Given the description of an element on the screen output the (x, y) to click on. 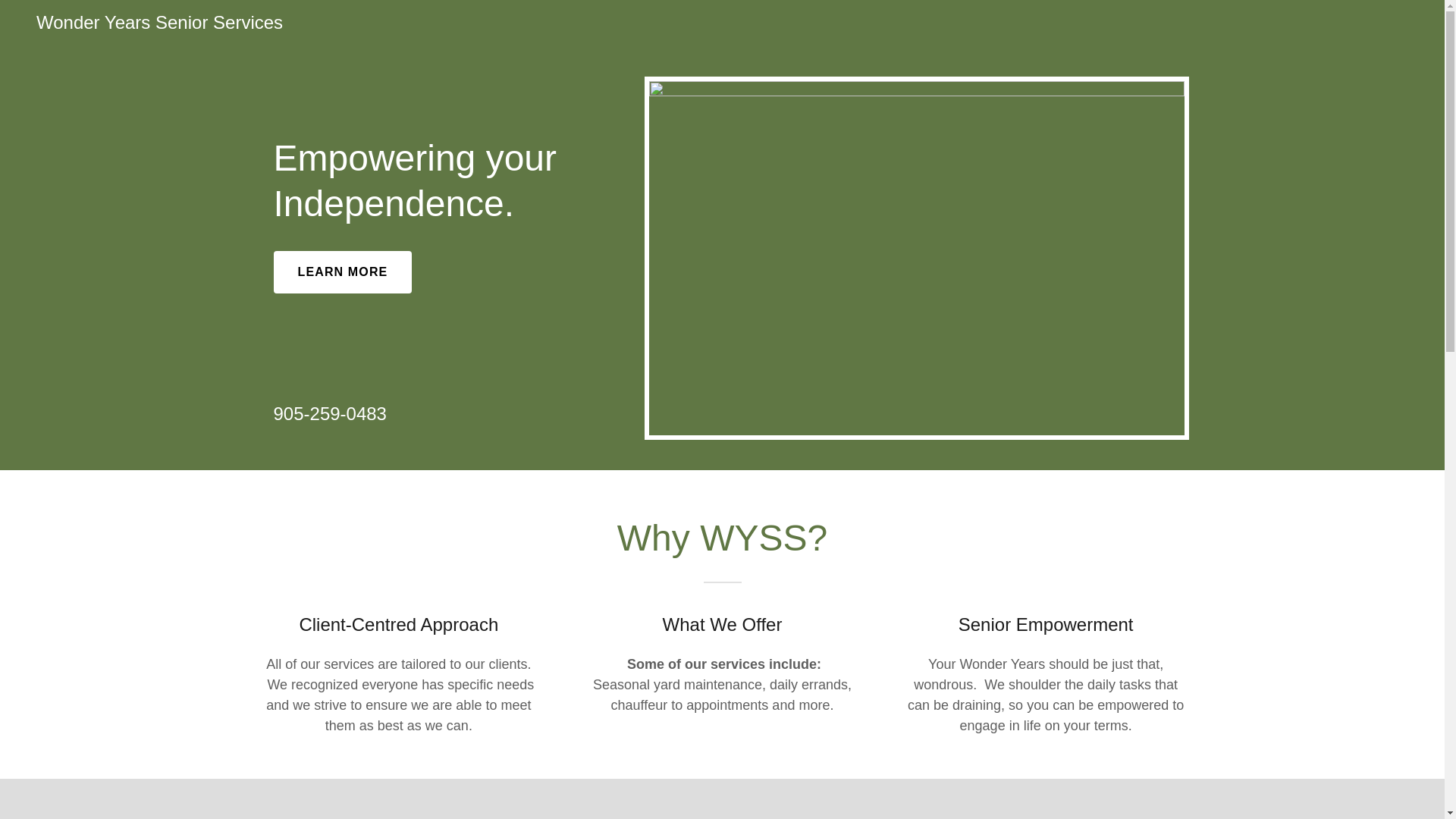
Wonder Years Senior Services (159, 23)
Wonder Years Senior Services (159, 23)
LEARN MORE (342, 271)
905-259-0483 (329, 413)
